Given the description of an element on the screen output the (x, y) to click on. 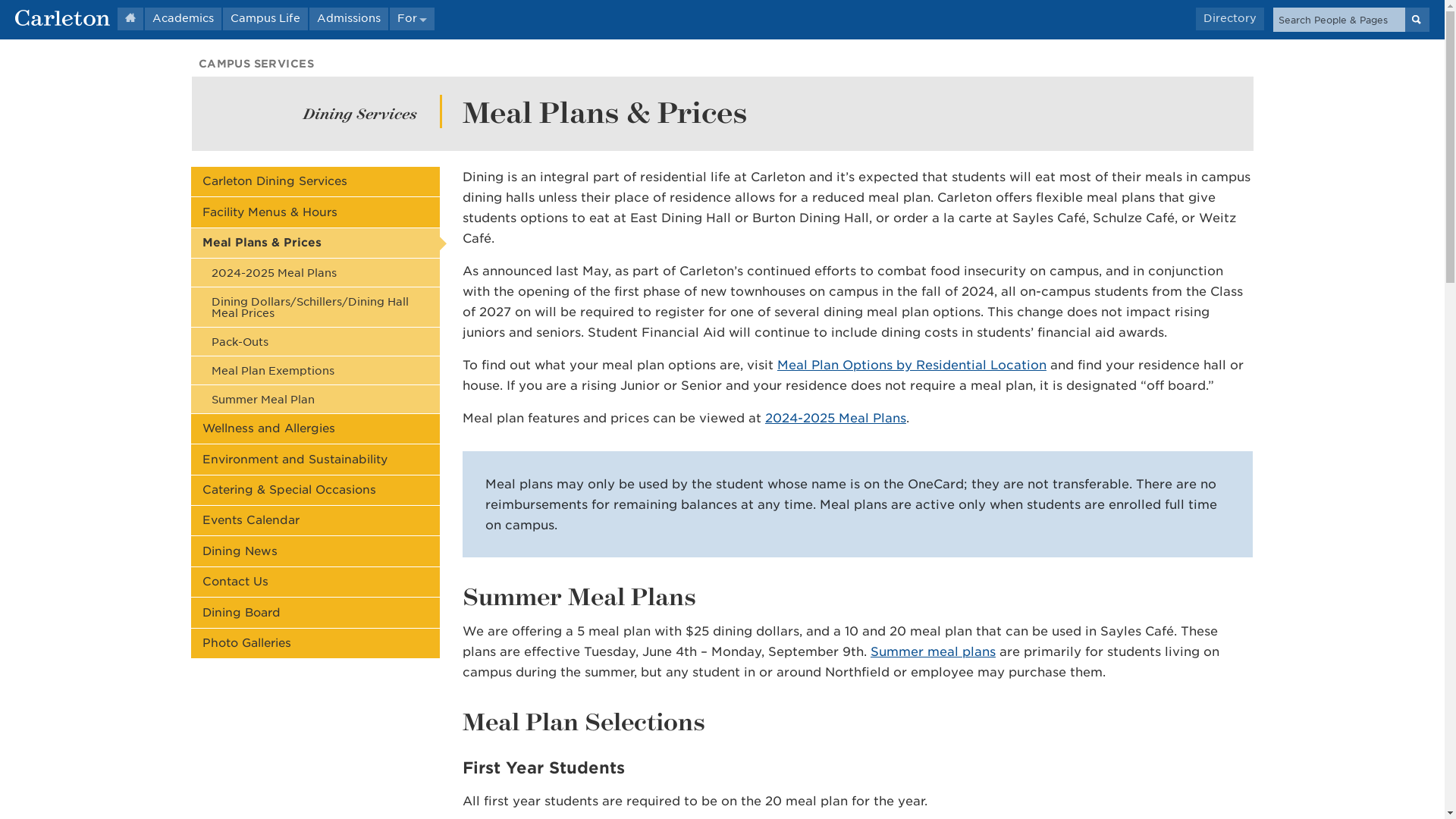
Dining Services (359, 112)
CAMPUS SERVICES (256, 63)
Pack-Outs (314, 341)
Summer meal plans (932, 651)
Meal Plan Options by Residential Location (911, 364)
Carleton Dining Services (314, 181)
Admissions (348, 18)
2024-2025 Meal Plans (314, 272)
Academics (182, 18)
Campus Directory (1229, 18)
